Given the description of an element on the screen output the (x, y) to click on. 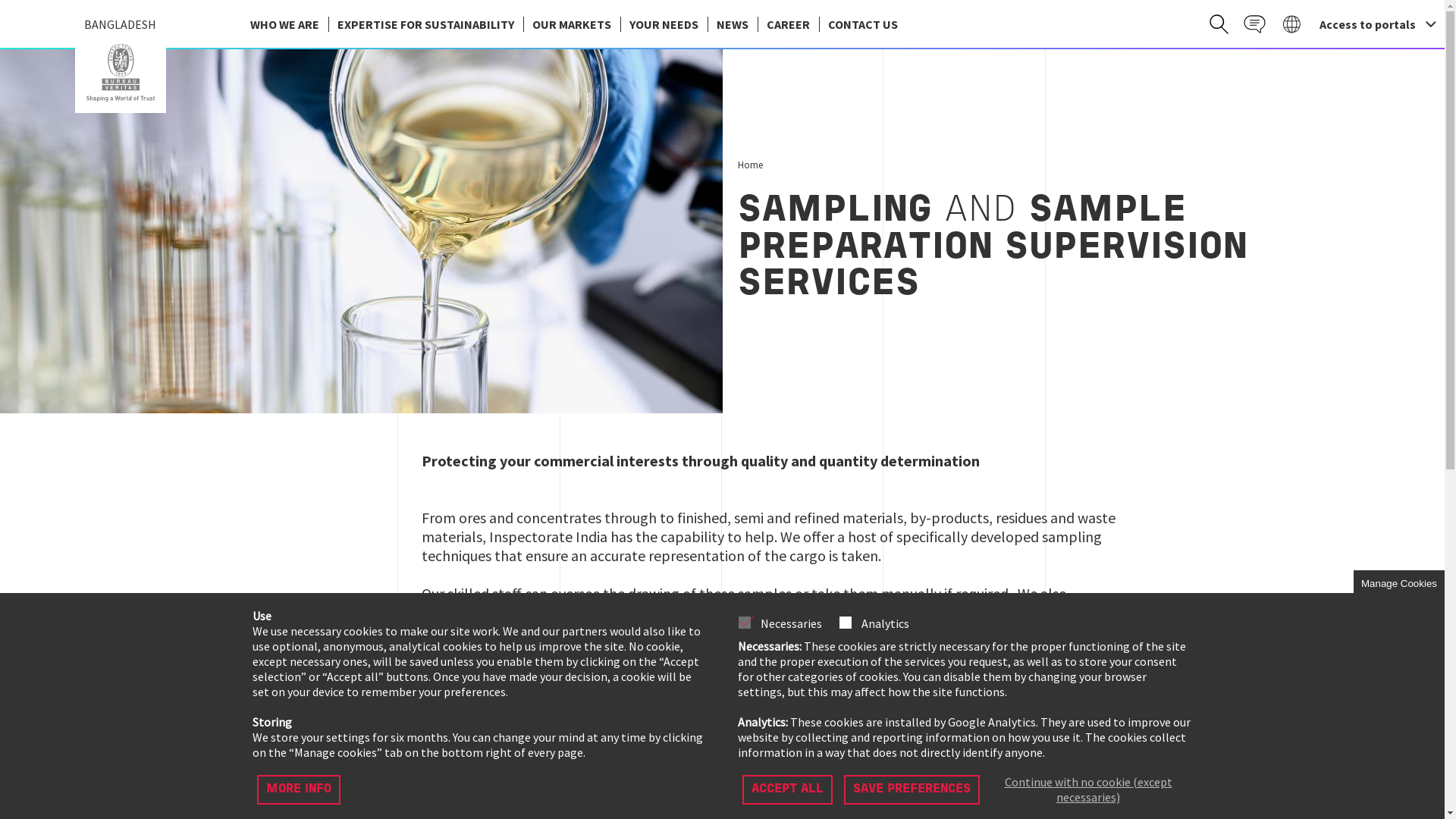
Manage Cookies Element type: text (1398, 583)
CONTACT US Element type: text (862, 23)
NEWS Element type: text (731, 23)
Contact us Element type: text (1254, 23)
SAVE PREFERENCES Element type: text (911, 789)
ACCEPT ALL Element type: text (786, 789)
Home Element type: text (749, 164)
Continue with no cookie (except necessaries) Element type: text (1088, 789)
EXPERTISE FOR SUSTAINABILITY Element type: text (424, 23)
bangladesh Element type: text (120, 72)
MORE INFO Element type: text (297, 789)
website' galaxy Element type: text (1291, 23)
